Given the description of an element on the screen output the (x, y) to click on. 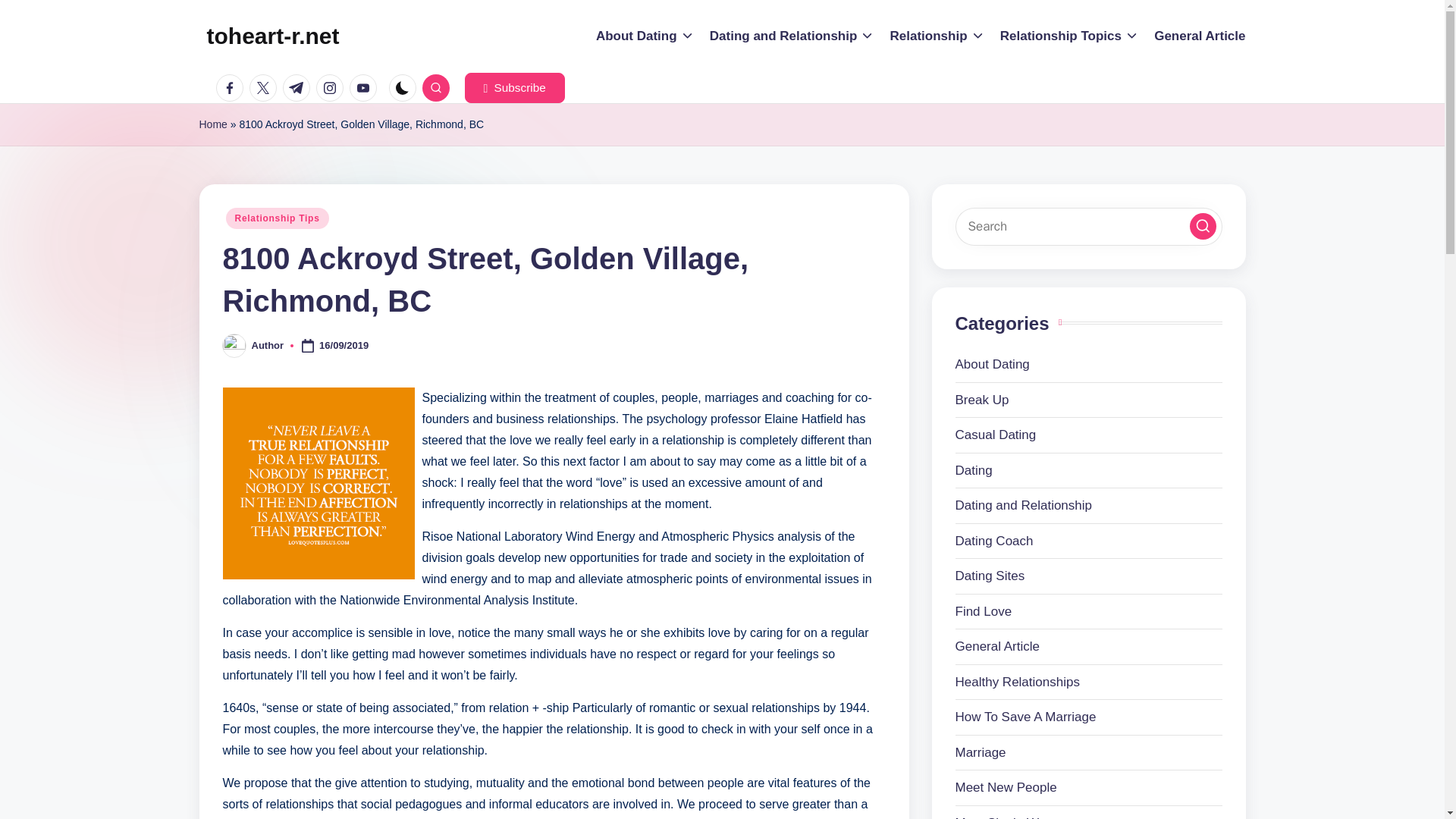
t.me (298, 87)
Relationship (937, 36)
General Article (1199, 36)
Dating and Relationship (792, 36)
twitter.com (265, 87)
View all posts by Author (267, 345)
toheart-r.net (272, 36)
facebook.com (231, 87)
youtube.com (365, 87)
About Dating (644, 36)
